Given the description of an element on the screen output the (x, y) to click on. 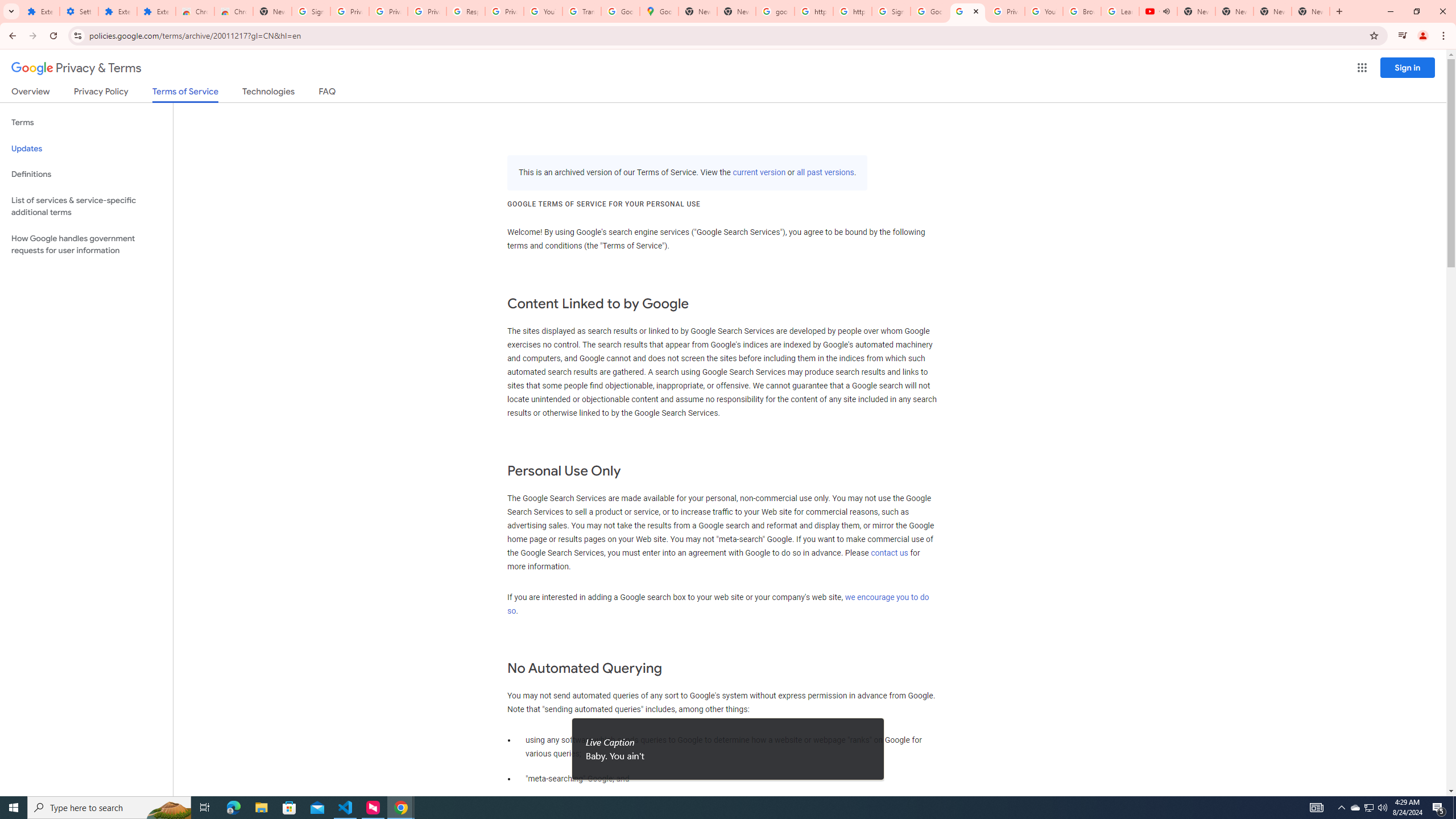
Chrome Web Store (194, 11)
Extensions (156, 11)
Chrome Web Store - Themes (233, 11)
